Given the description of an element on the screen output the (x, y) to click on. 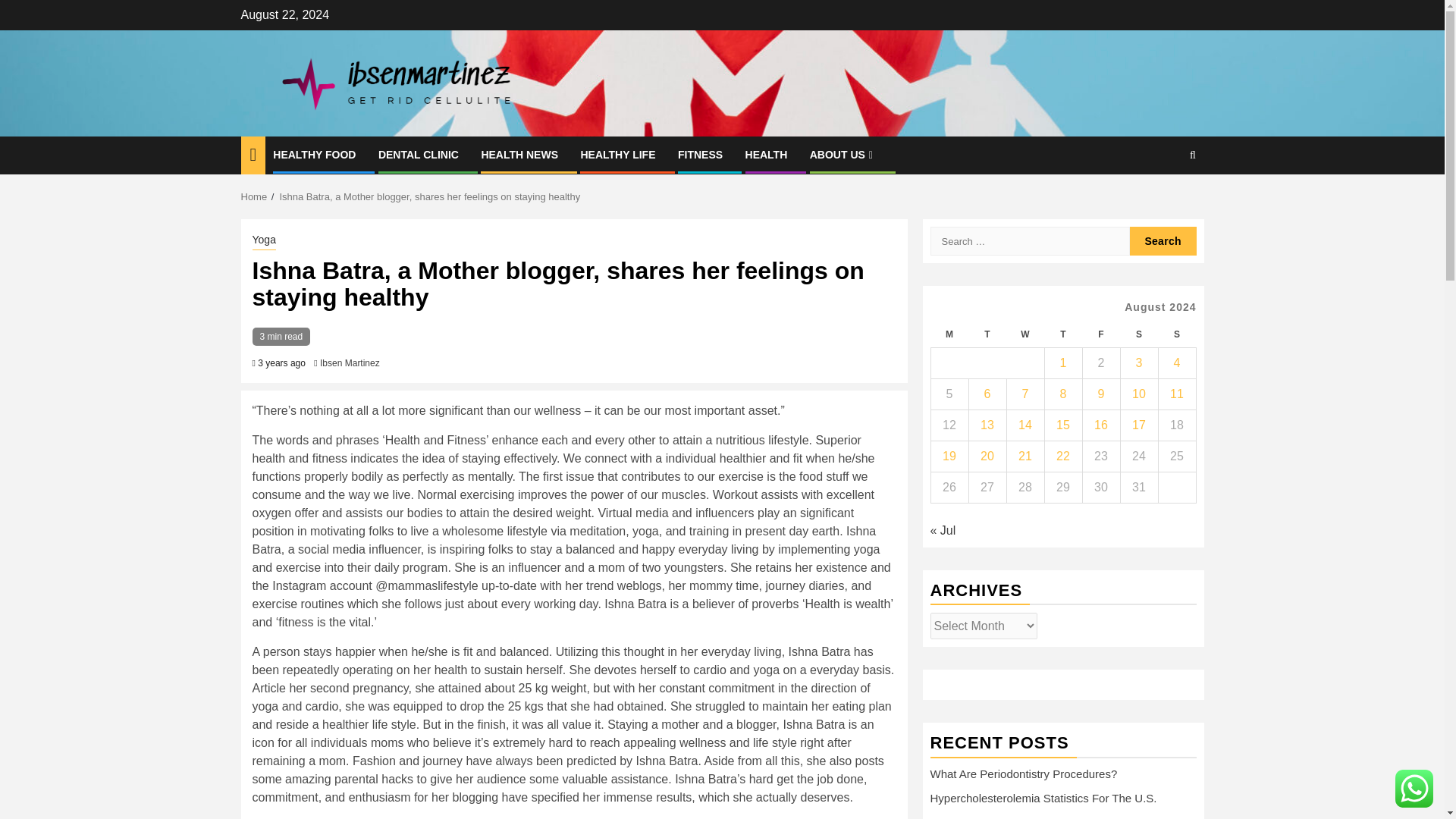
Home (254, 196)
Yoga (263, 240)
HEALTH (766, 154)
Friday (1100, 334)
Search (1163, 201)
Ibsen Martinez (350, 362)
HEALTHY FOOD (314, 154)
HEALTHY LIFE (617, 154)
HEALTH NEWS (518, 154)
